Given the description of an element on the screen output the (x, y) to click on. 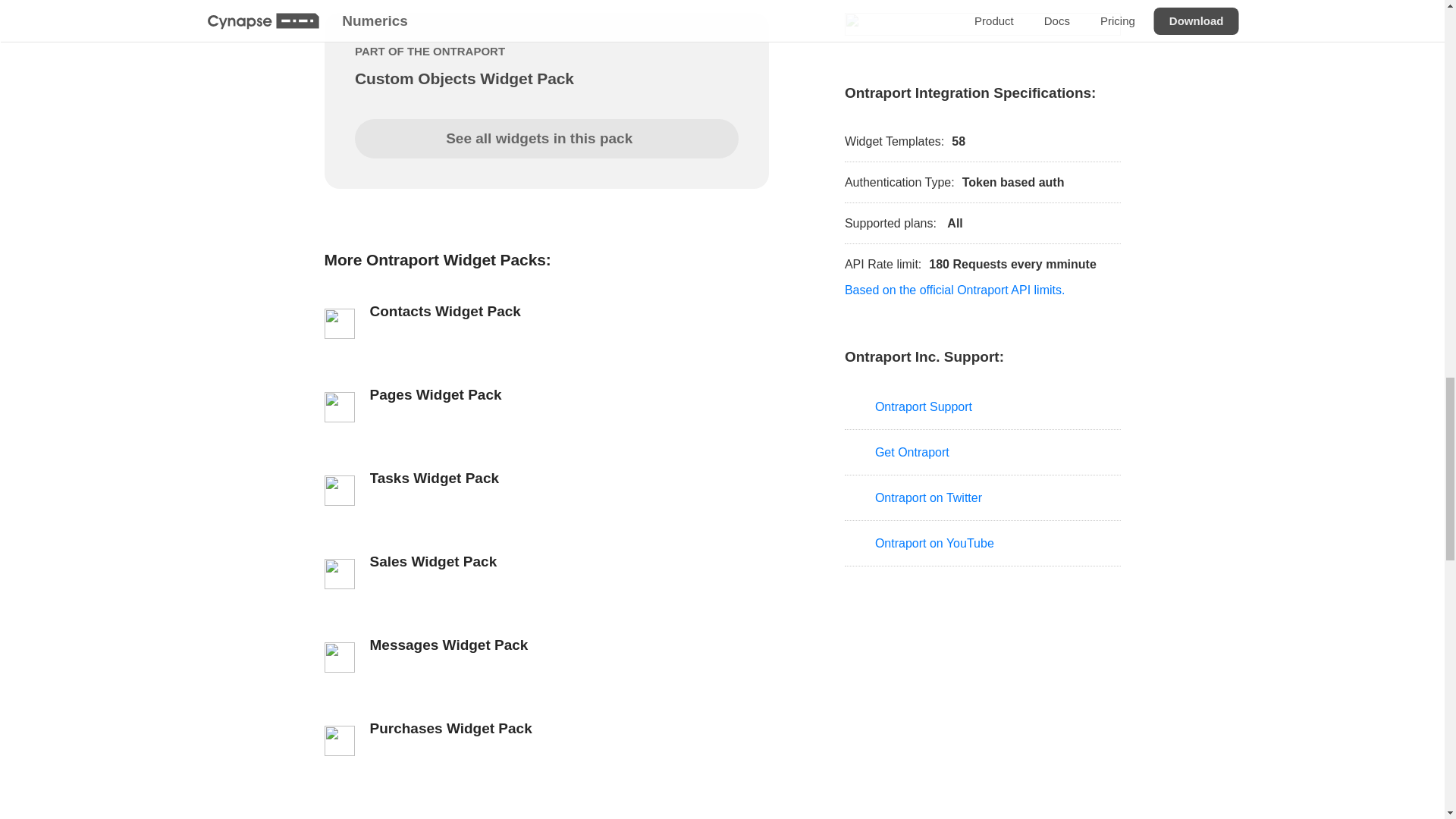
Sales Widget Pack (546, 569)
Ontraport on YouTube (982, 543)
Contacts Widget Pack (546, 320)
Purchases Widget Pack (546, 736)
Ontraport on Twitter (982, 497)
Ontraport Support (982, 406)
Based on the official Ontraport API limits. (954, 289)
Get Ontraport (982, 452)
See all widgets in this pack (546, 138)
Pages Widget Pack (546, 403)
Messages Widget Pack (546, 653)
Tasks Widget Pack (546, 486)
